Given the description of an element on the screen output the (x, y) to click on. 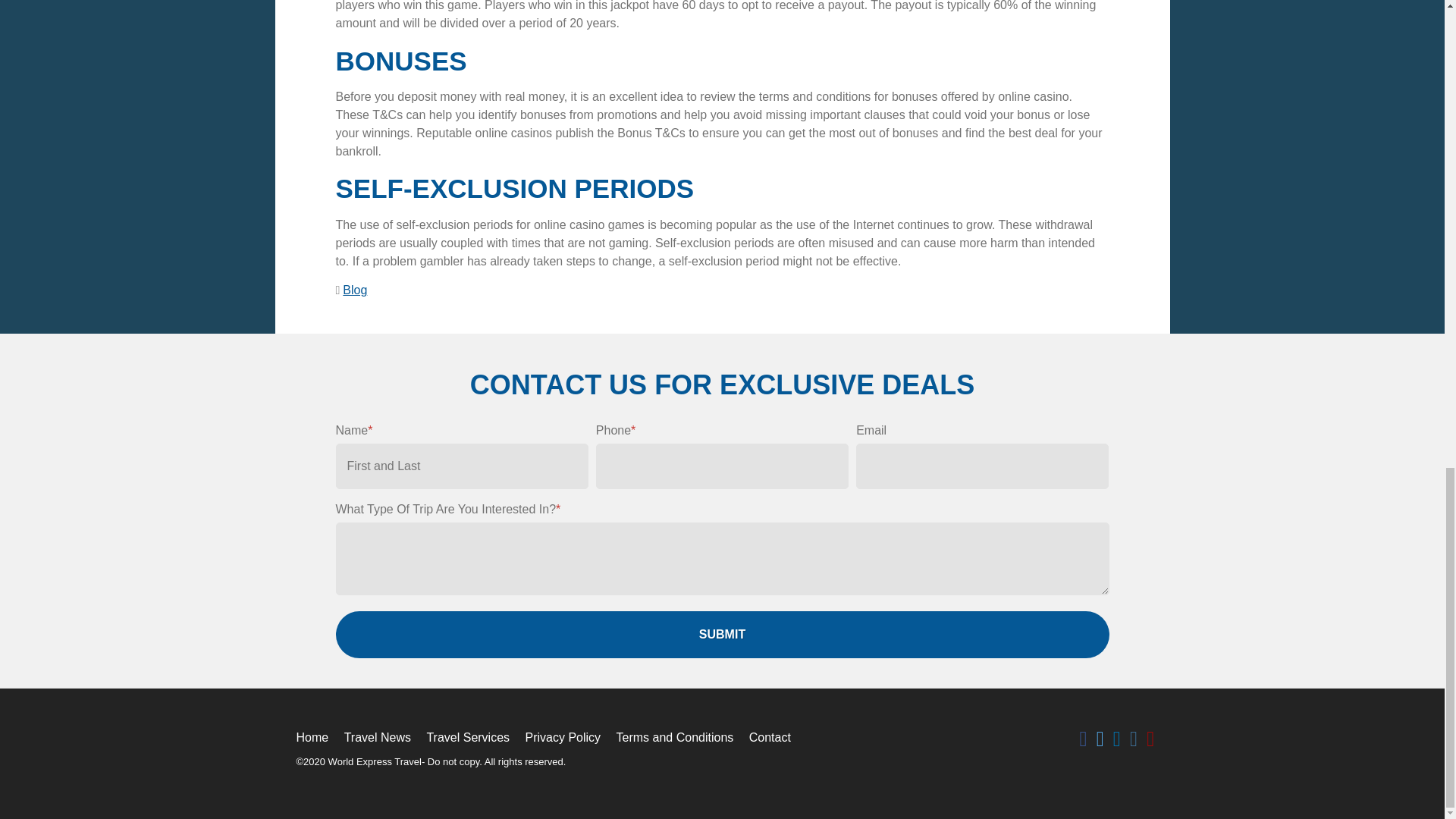
Submit (721, 634)
